Given the description of an element on the screen output the (x, y) to click on. 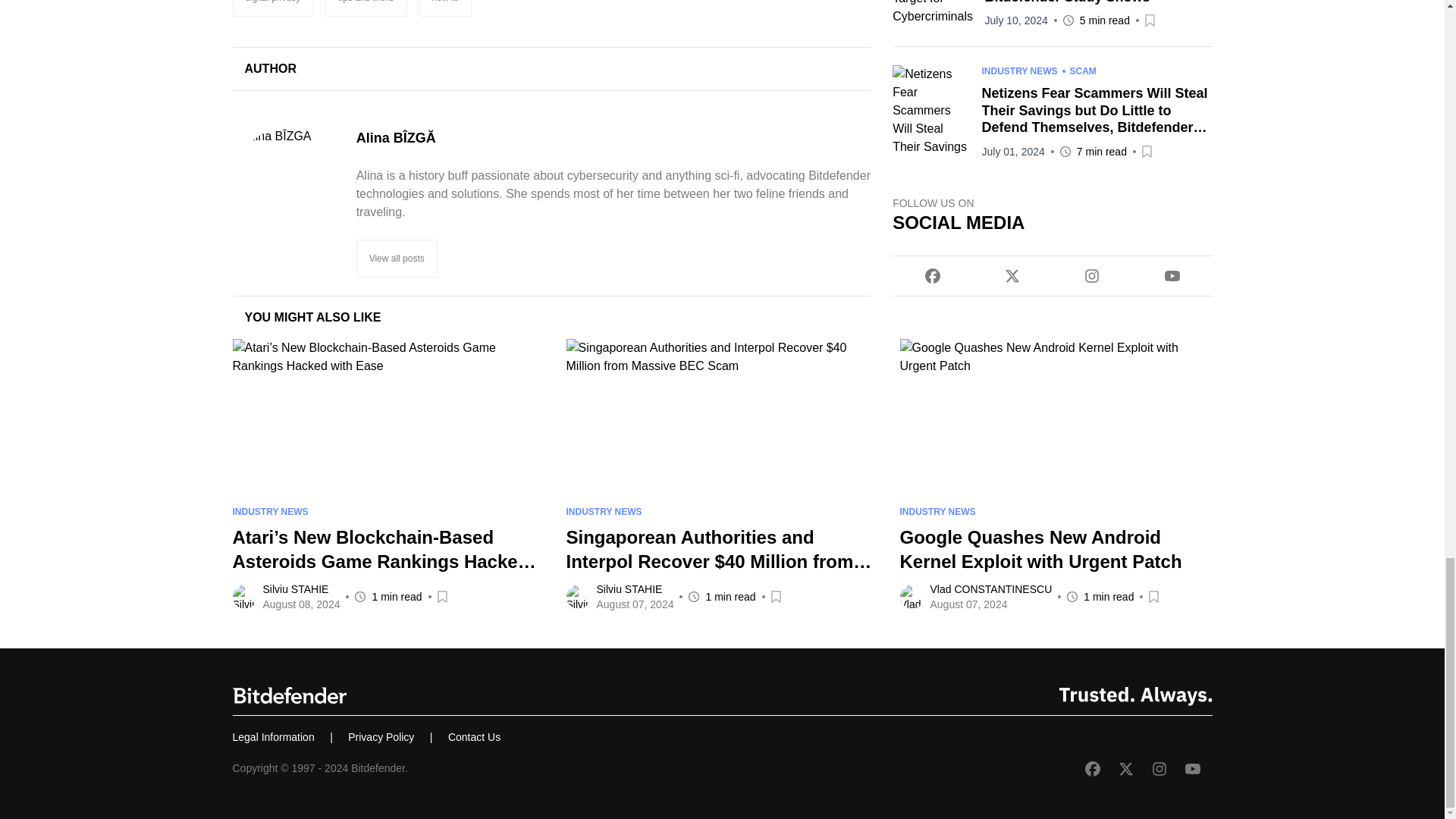
View all posts (397, 258)
how to (445, 8)
Tips and Tricks (365, 8)
digital privacy (272, 8)
tips and tricks (365, 8)
Digital Privacy (272, 8)
